Given the description of an element on the screen output the (x, y) to click on. 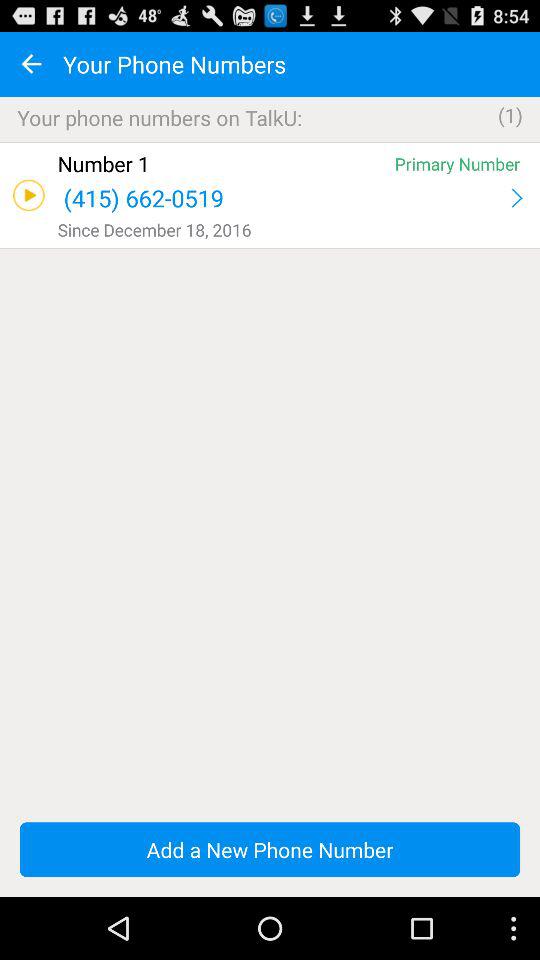
press add a new (269, 849)
